Given the description of an element on the screen output the (x, y) to click on. 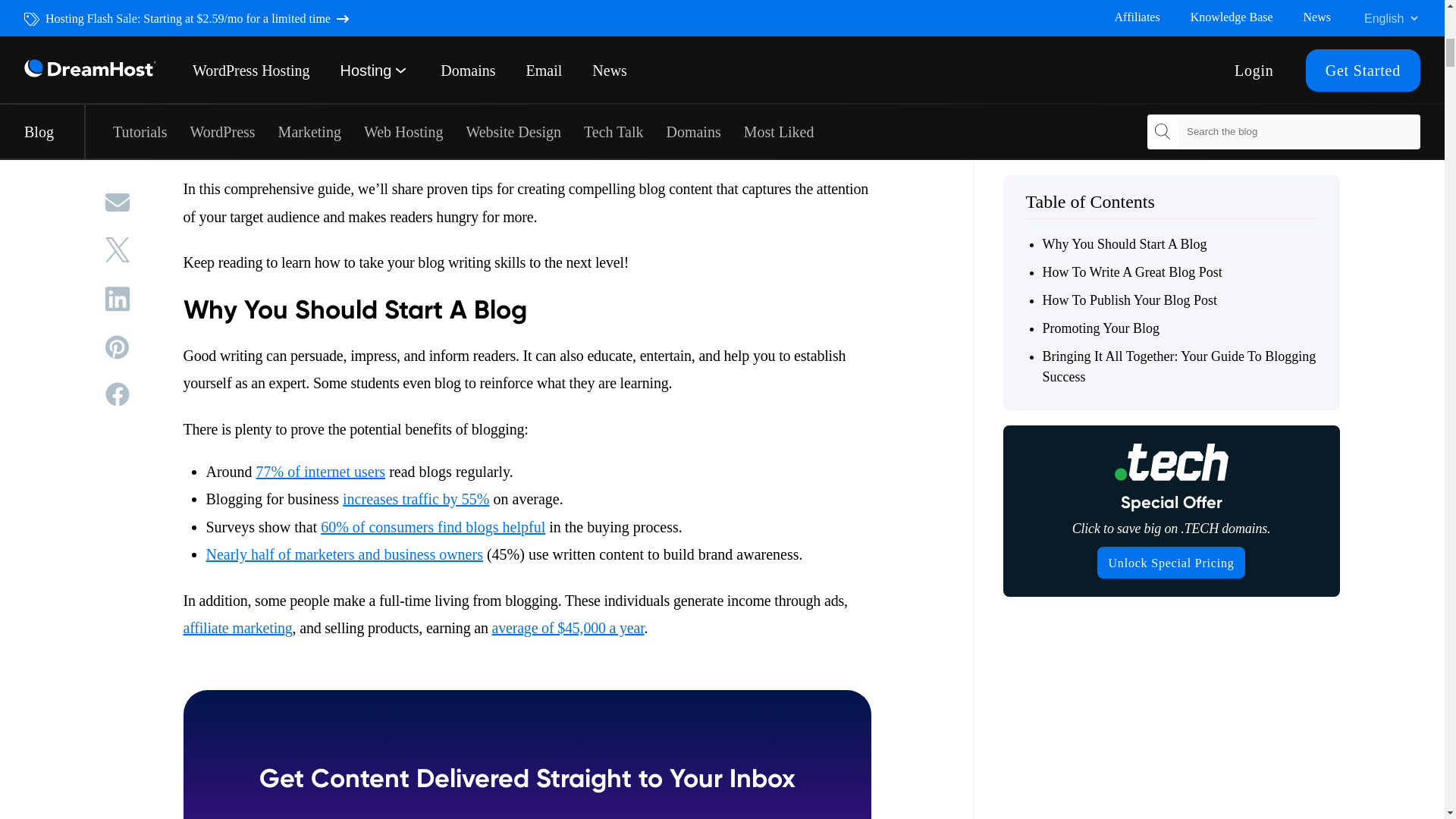
writing a blog post (378, 143)
Share via Twitter (116, 57)
Share via Pinterest (116, 154)
Share via Facebook (116, 201)
Share via Email (116, 11)
